Given the description of an element on the screen output the (x, y) to click on. 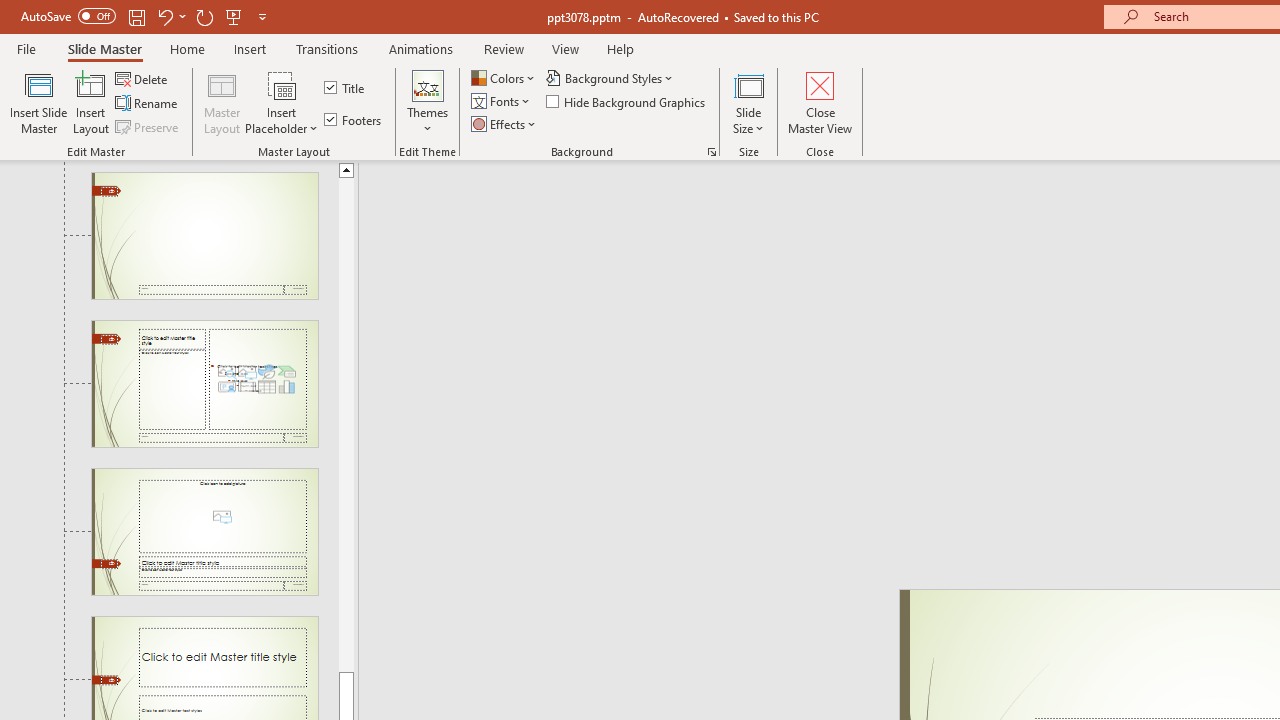
Insert Slide Master (38, 102)
Slide Blank Layout: used by no slides (204, 235)
Content (282, 84)
Colors (504, 78)
Rename (148, 103)
Effects (505, 124)
Format Background... (711, 151)
Insert Placeholder (282, 102)
